Given the description of an element on the screen output the (x, y) to click on. 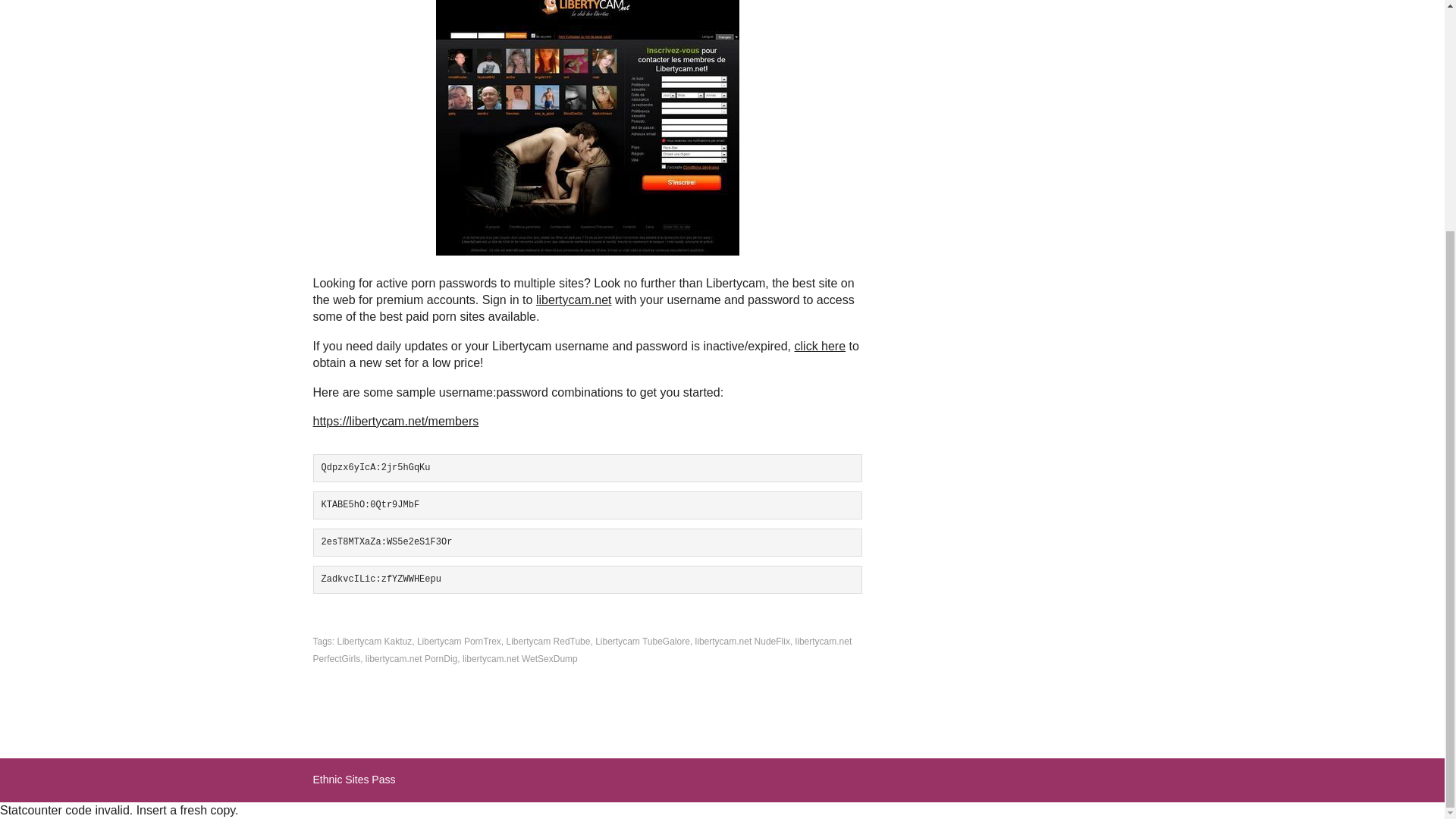
click here (819, 345)
libertycam.net PornDig (411, 658)
libertycam.net WetSexDump (520, 658)
libertycam.net NudeFlix (742, 641)
libertycam.net (573, 299)
Libertycam PornTrex (458, 641)
Libertycam Kaktuz (374, 641)
Libertycam TubeGalore (642, 641)
Libertycam RedTube (548, 641)
libertycam.net PerfectGirls (582, 649)
Libertycam (587, 127)
